Given the description of an element on the screen output the (x, y) to click on. 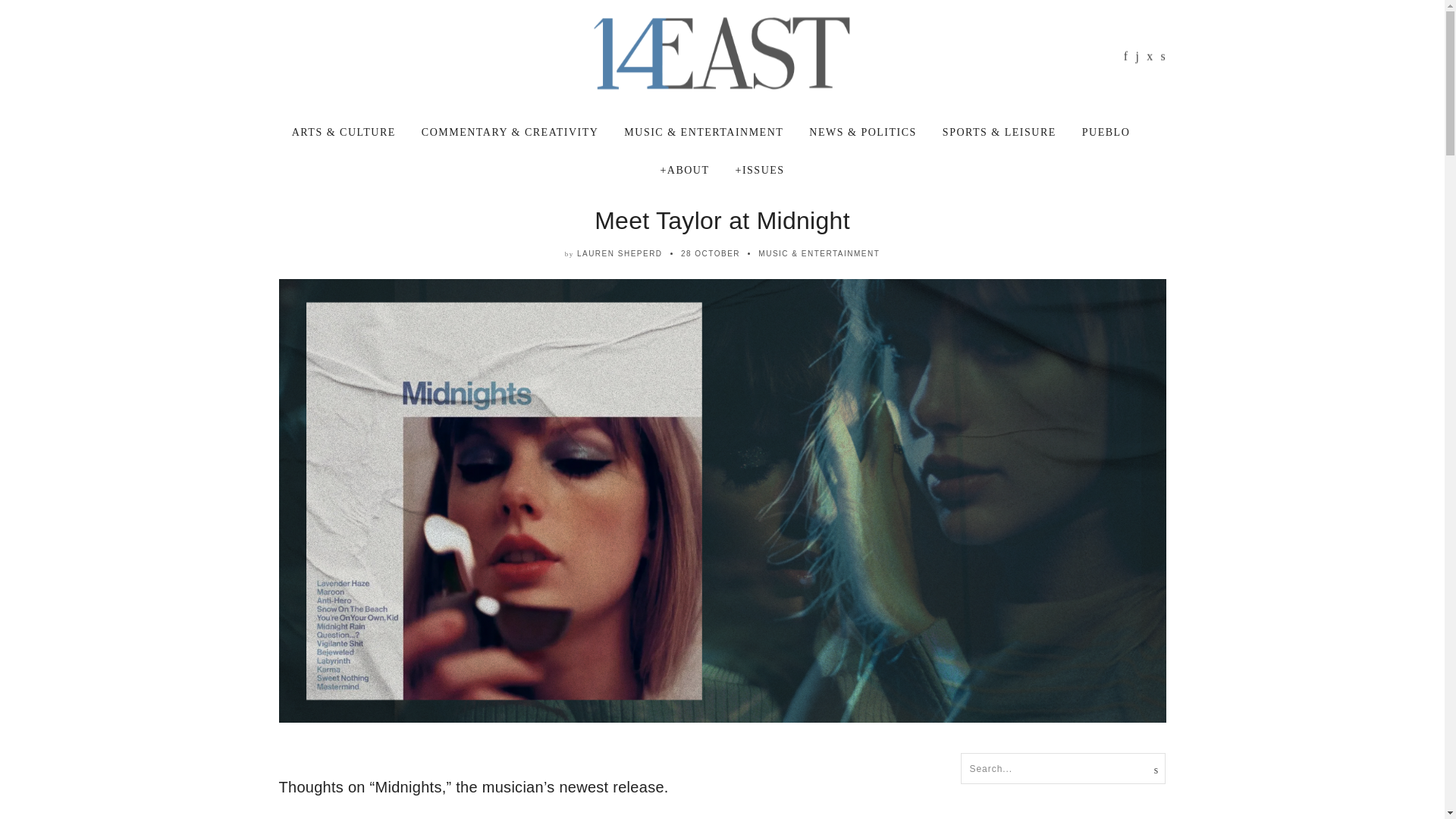
October 28, 2022 12:00 (710, 253)
